Given the description of an element on the screen output the (x, y) to click on. 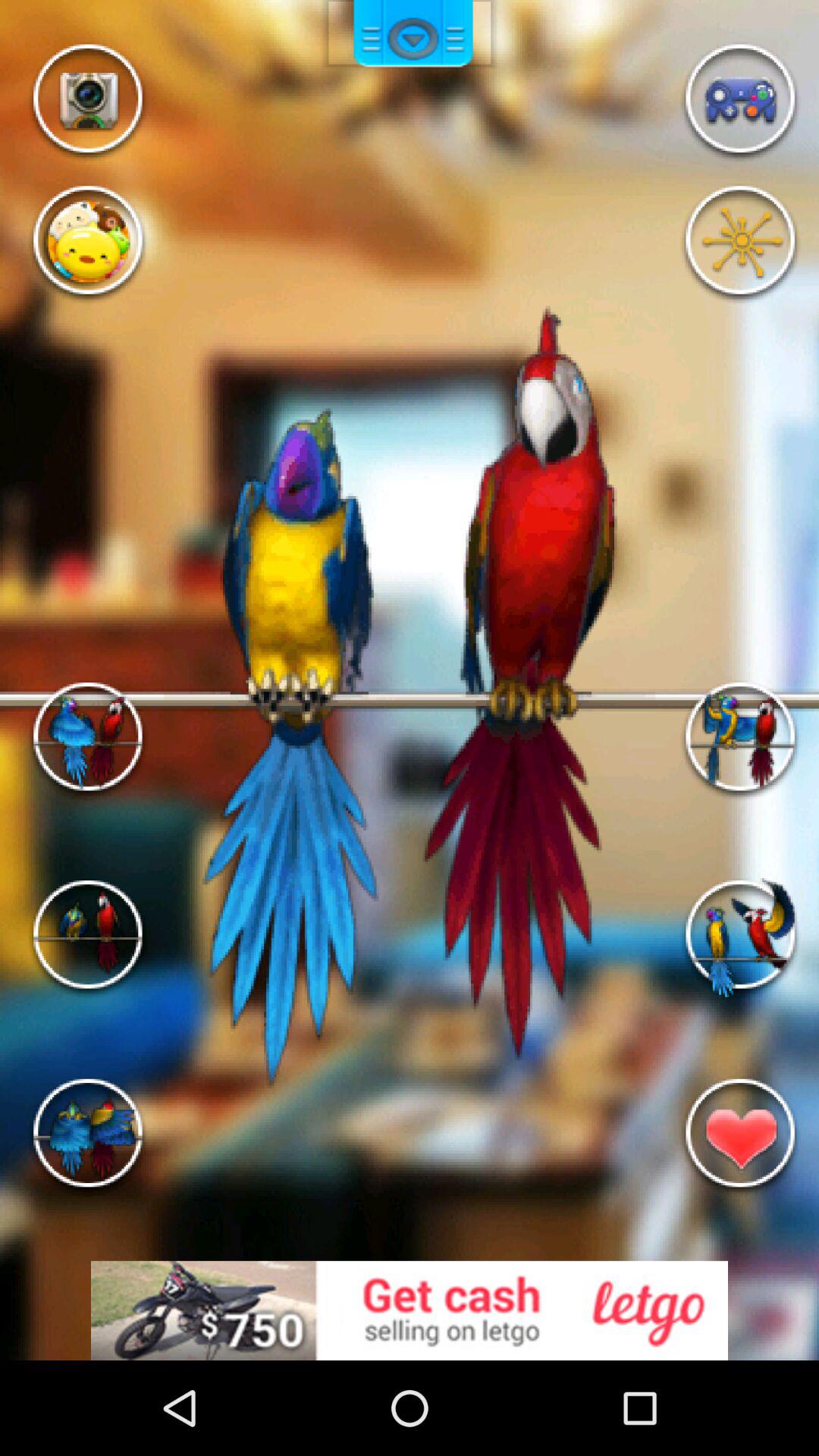
adverts (409, 1310)
